Given the description of an element on the screen output the (x, y) to click on. 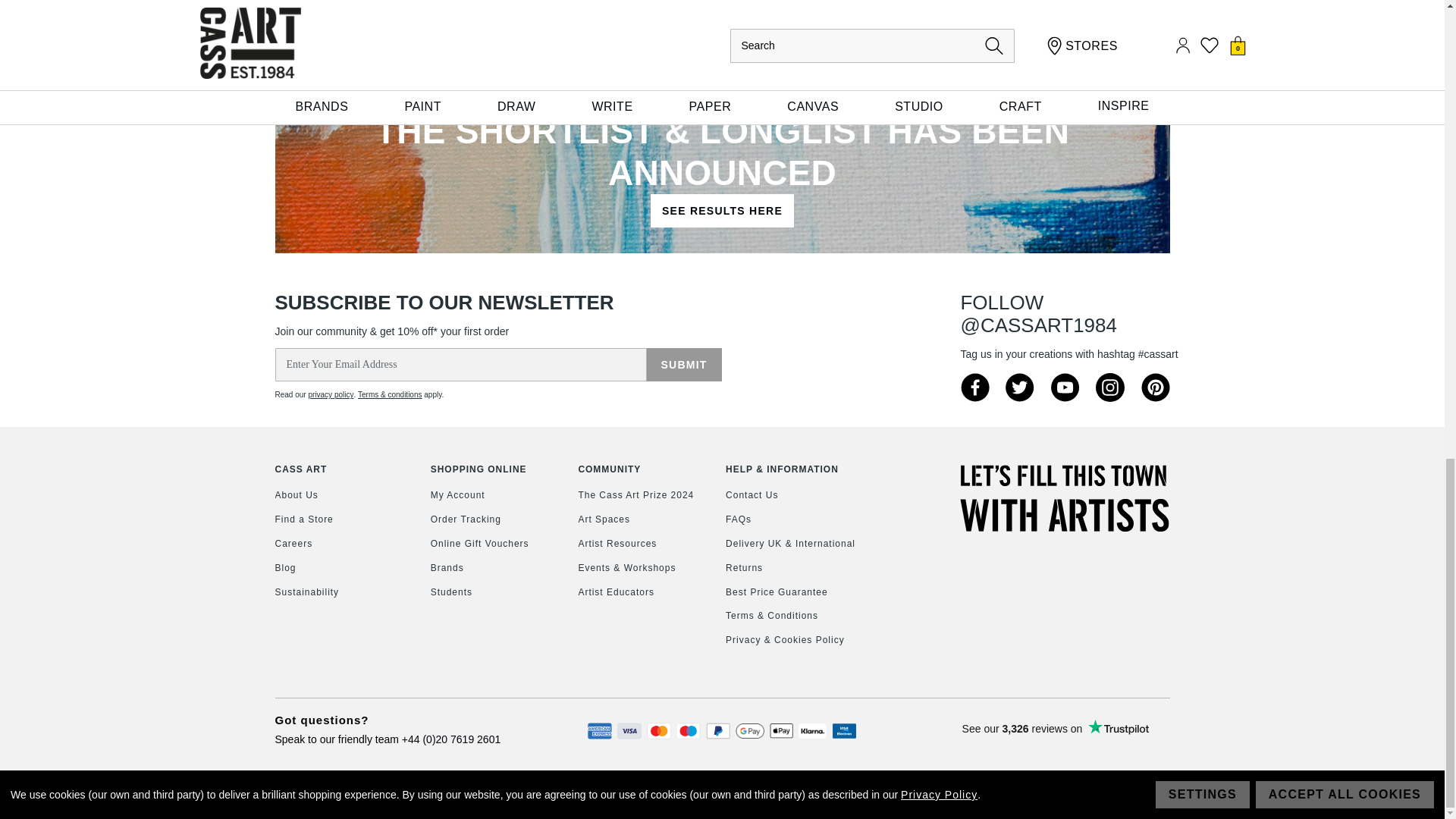
Submit (683, 364)
